Given the description of an element on the screen output the (x, y) to click on. 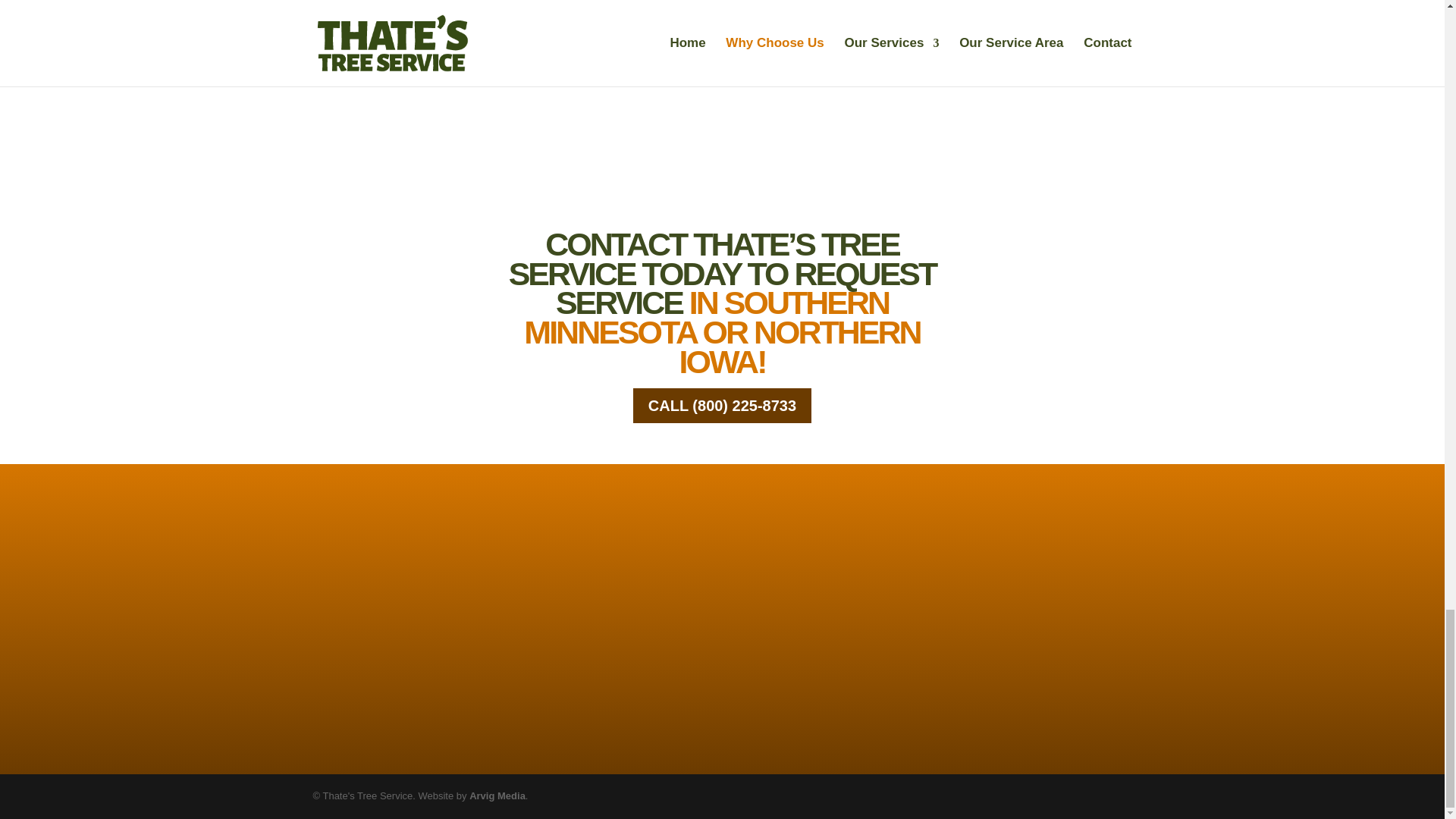
IN SOUTHERN MINNESOTA OR NORTHERN IOWA! (722, 331)
Arvig Media (496, 795)
